Given the description of an element on the screen output the (x, y) to click on. 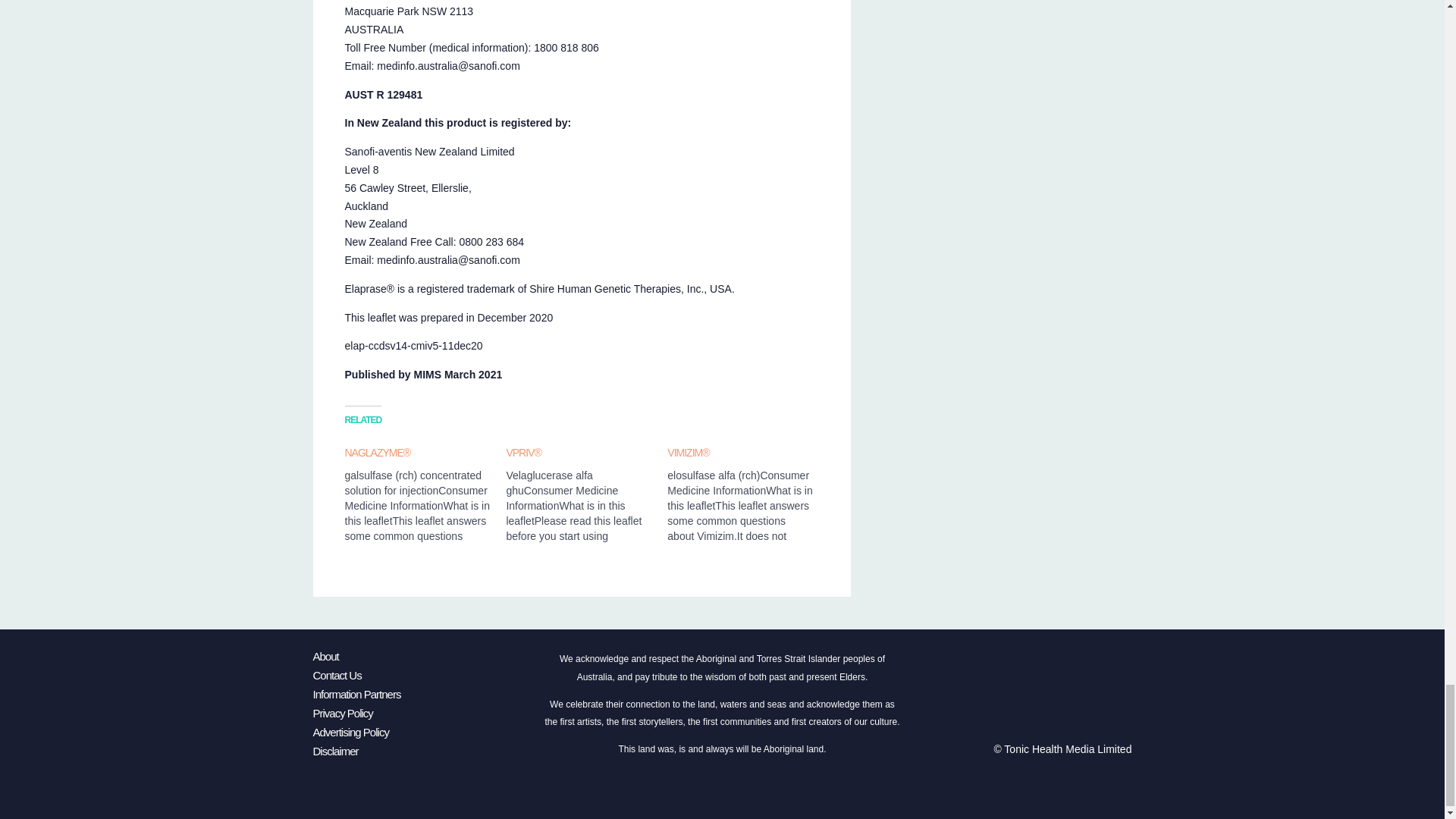
About Our Information Partners (356, 694)
